Given the description of an element on the screen output the (x, y) to click on. 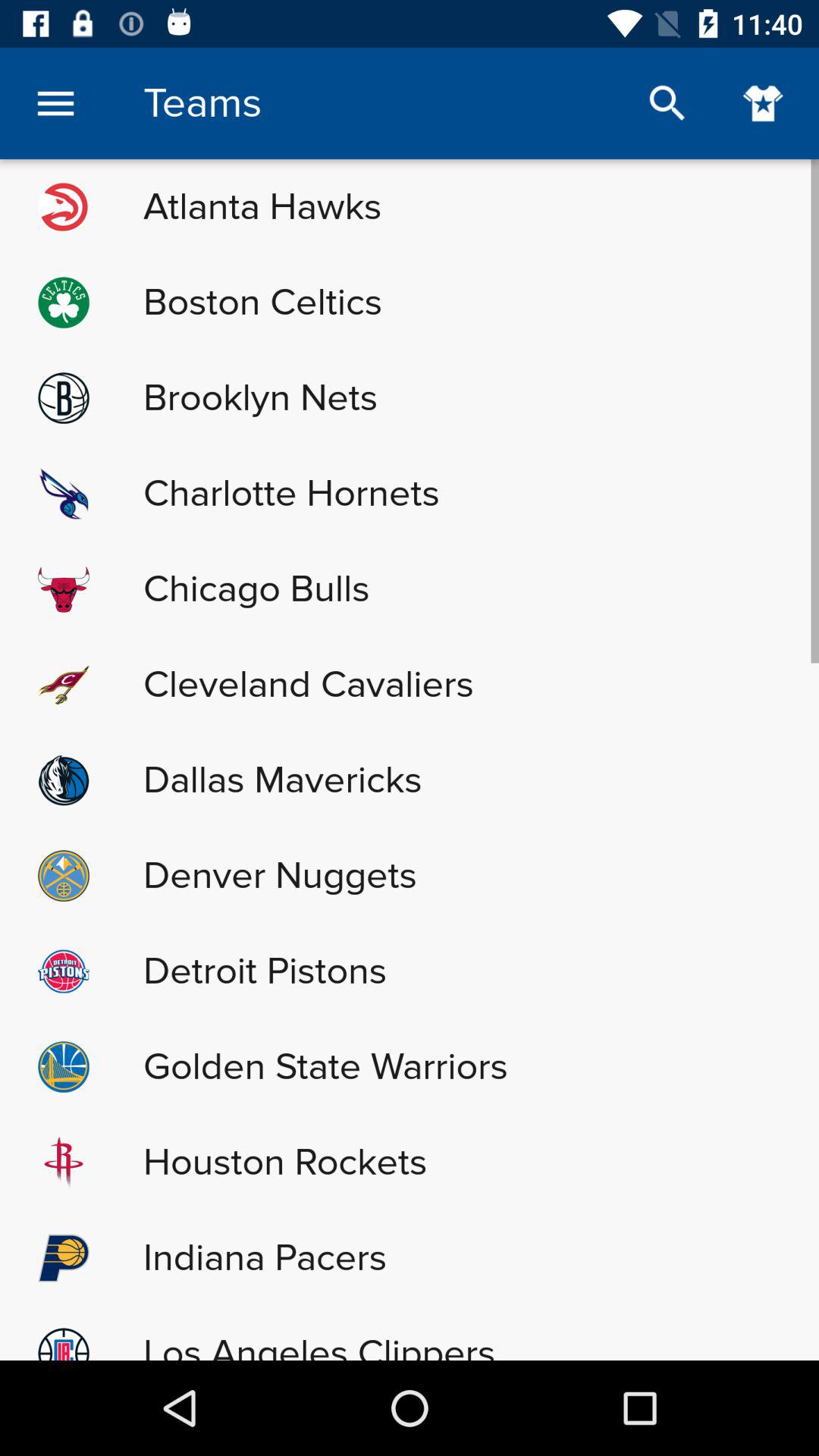
open search (667, 103)
